Given the description of an element on the screen output the (x, y) to click on. 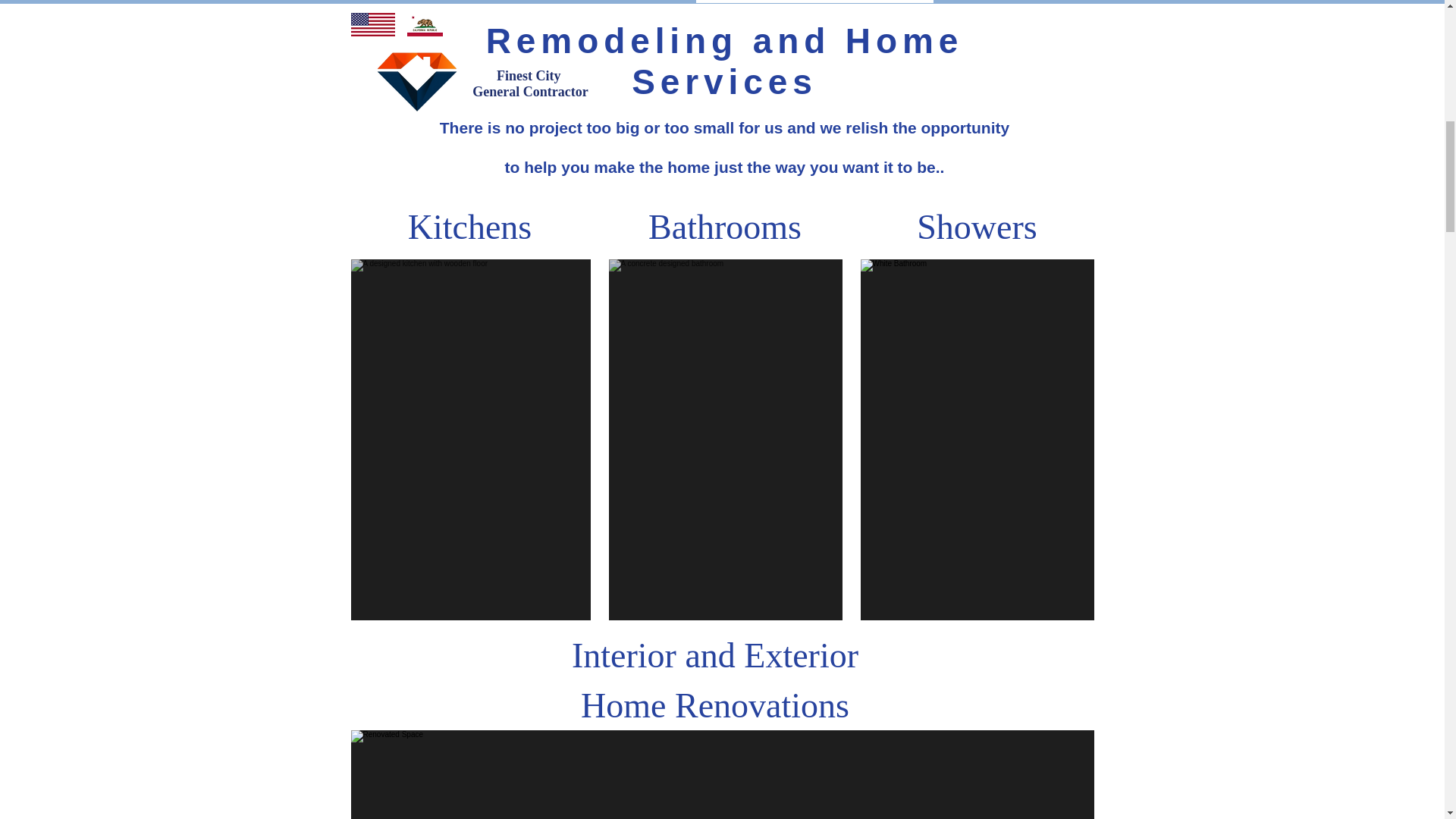
Bathrooms (724, 227)
Interior and Exterior Home Renovations (715, 680)
Kitchens (469, 227)
Showers (976, 227)
